Given the description of an element on the screen output the (x, y) to click on. 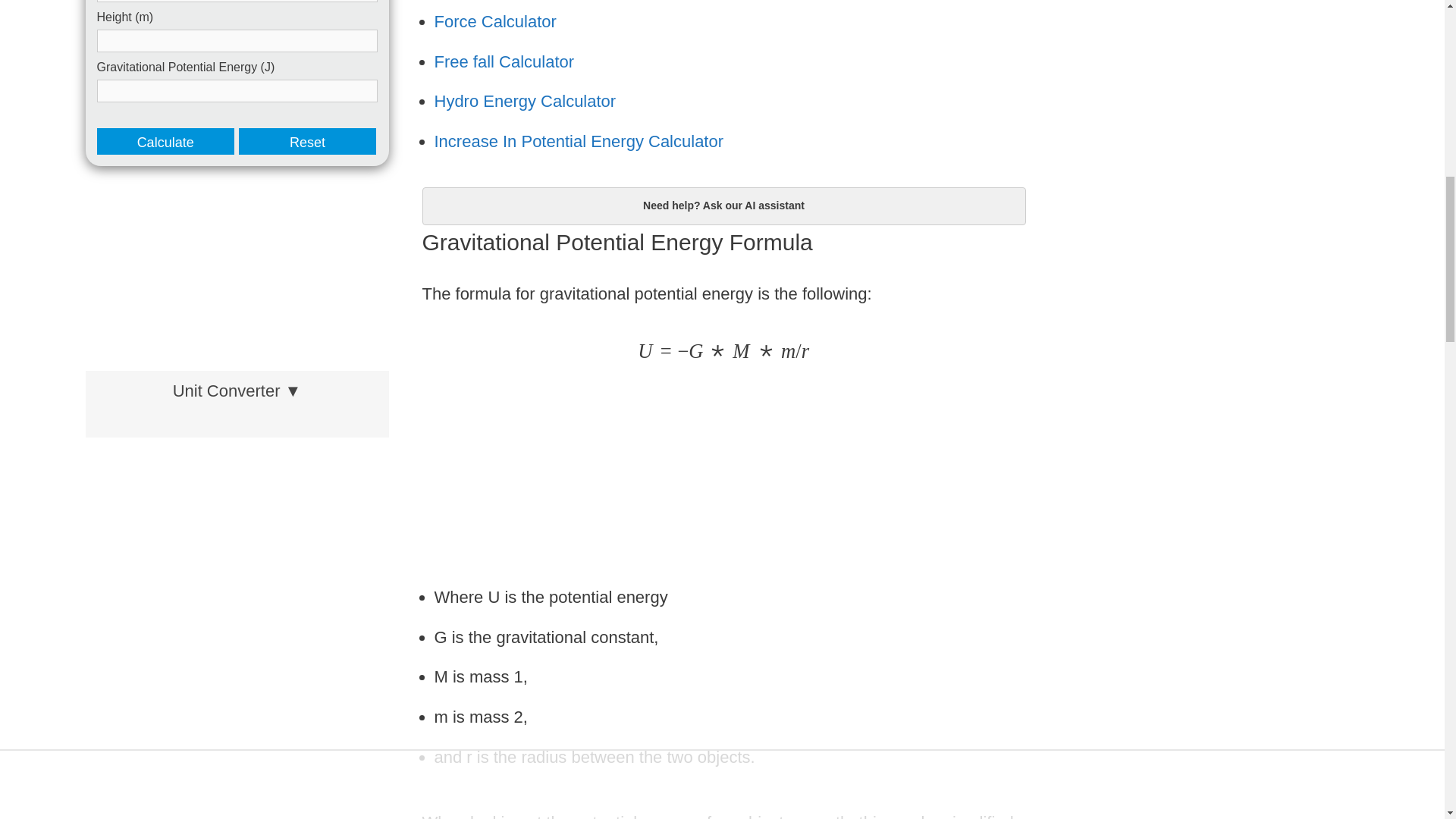
Calculate (165, 140)
Reset (306, 140)
Increase In Potential Energy Calculator (578, 140)
Free fall Calculator (503, 61)
Hydro Energy Calculator (524, 100)
Force Calculator (494, 21)
